Given the description of an element on the screen output the (x, y) to click on. 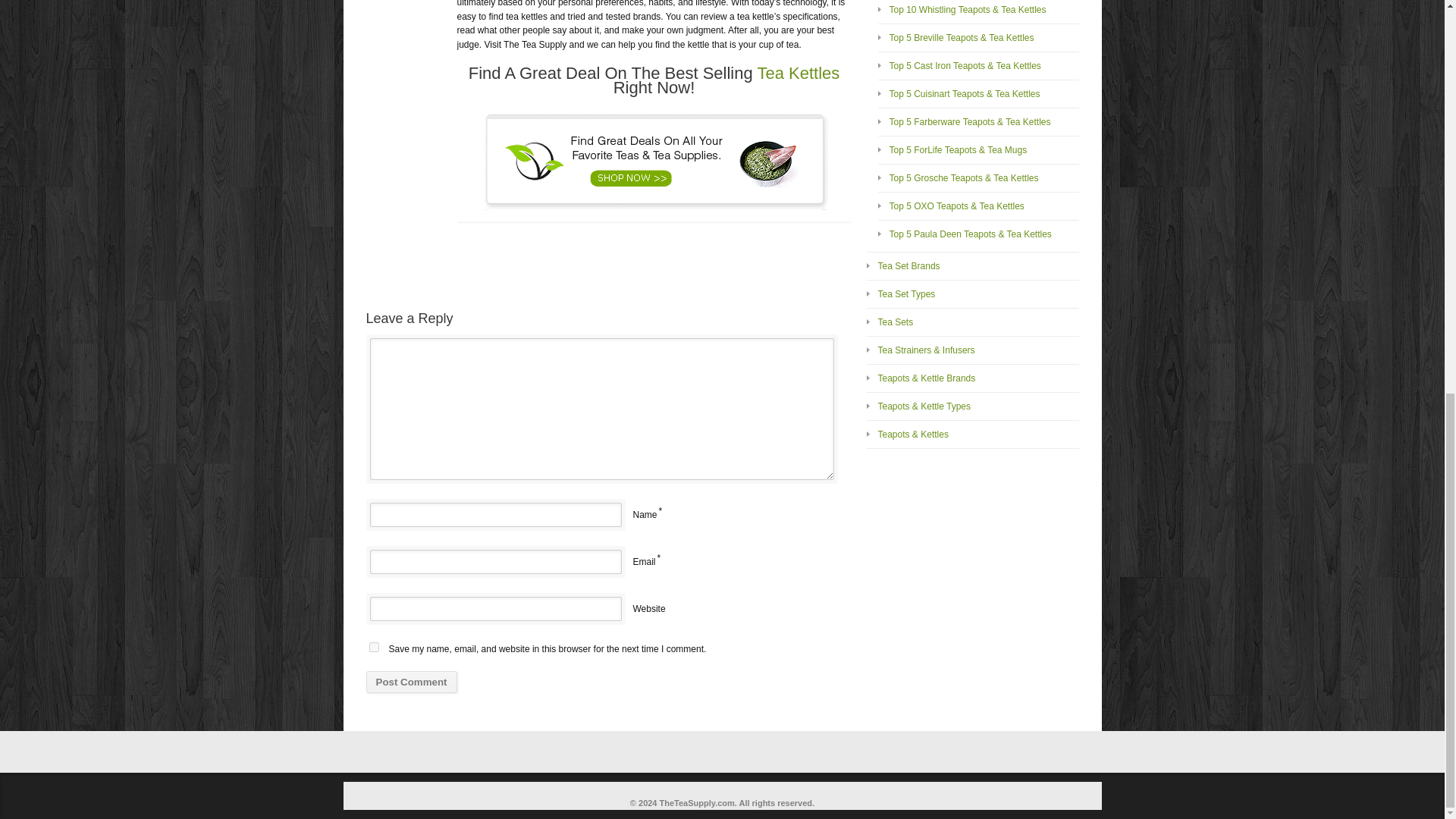
yes (373, 646)
Post Comment (411, 681)
Tea Kettles (798, 72)
Tea Set Brands (908, 266)
Post Comment (411, 681)
